Given the description of an element on the screen output the (x, y) to click on. 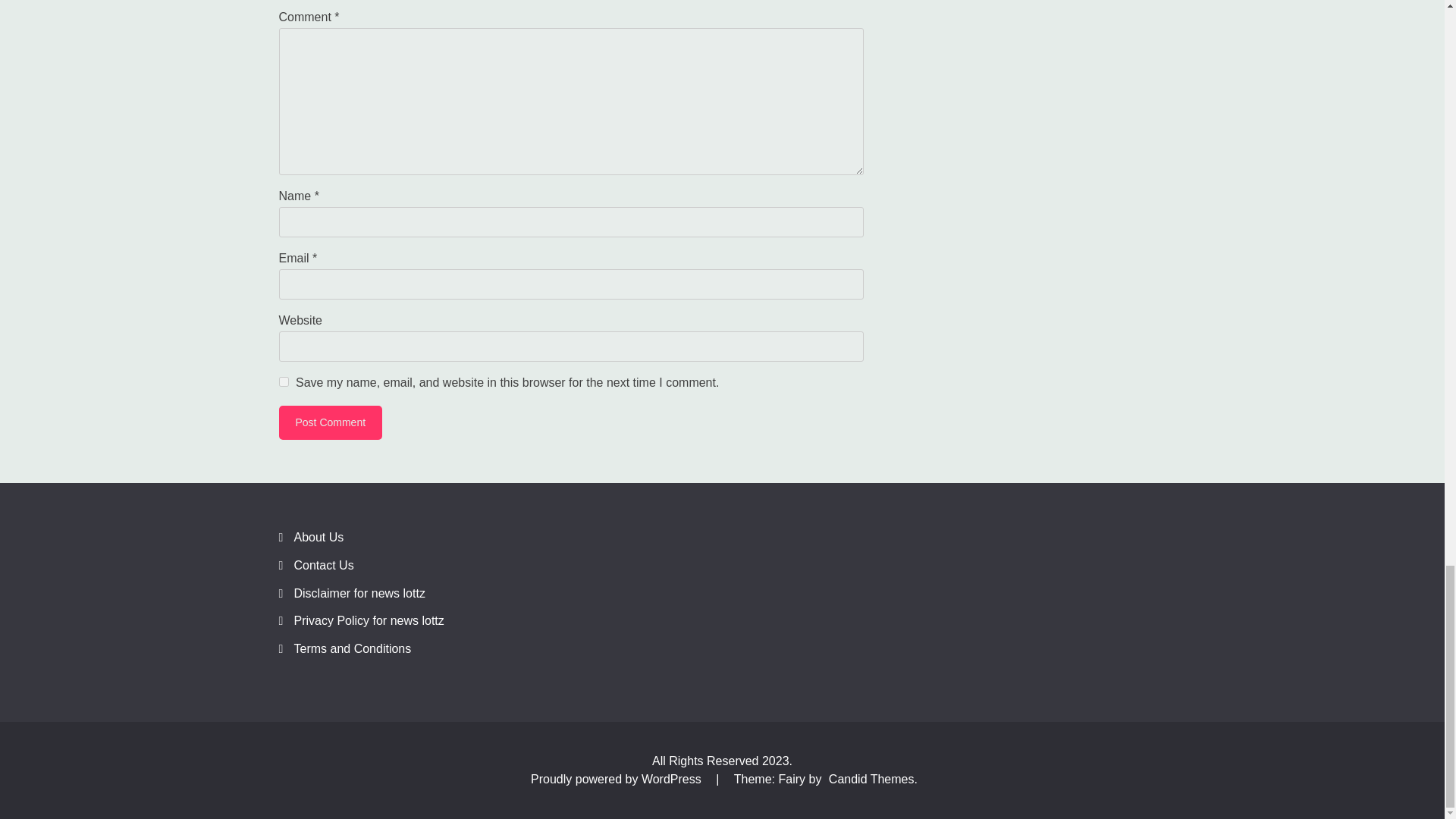
Post Comment (330, 422)
Post Comment (330, 422)
yes (283, 381)
